Given the description of an element on the screen output the (x, y) to click on. 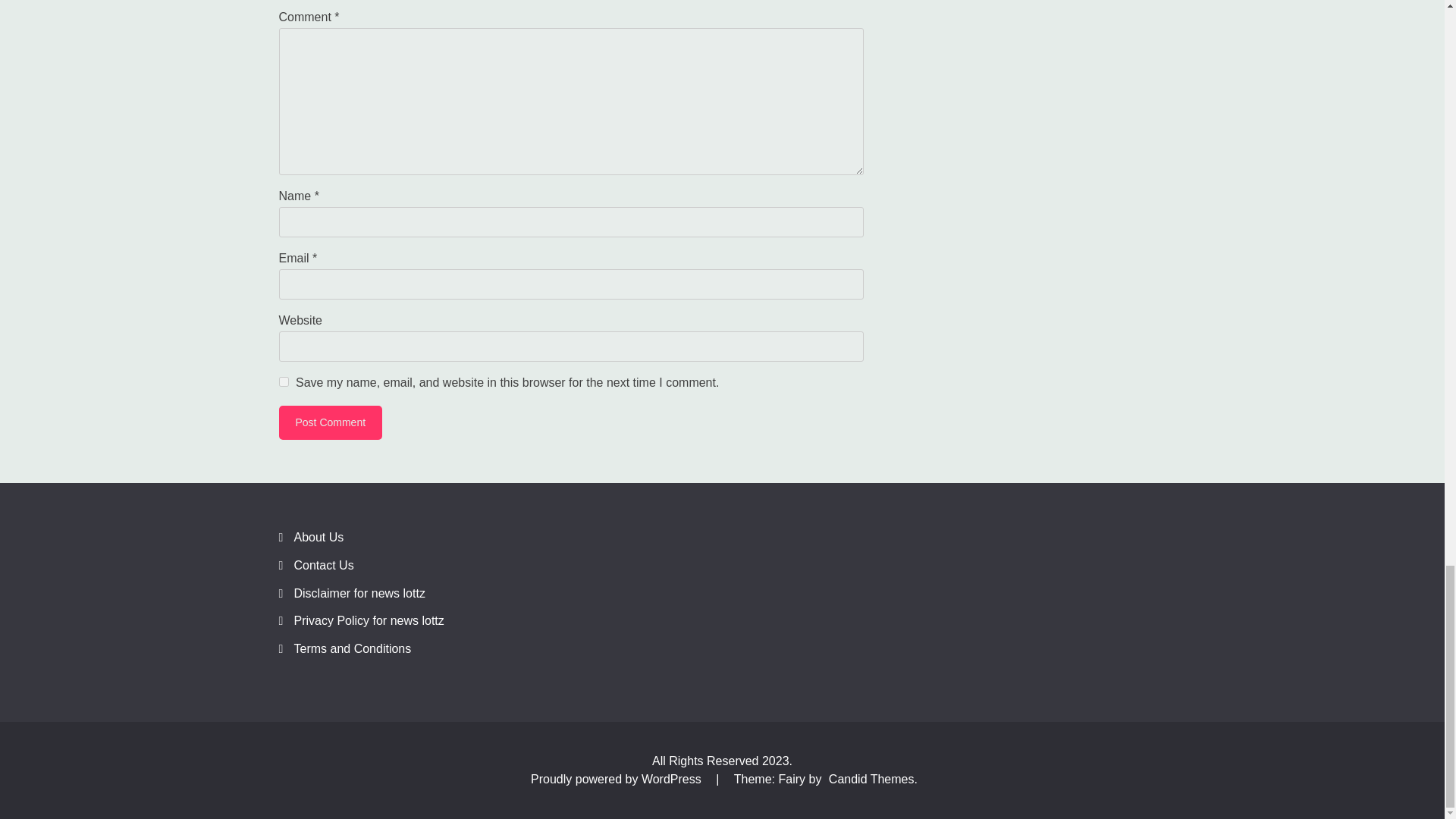
Post Comment (330, 422)
Post Comment (330, 422)
yes (283, 381)
